Given the description of an element on the screen output the (x, y) to click on. 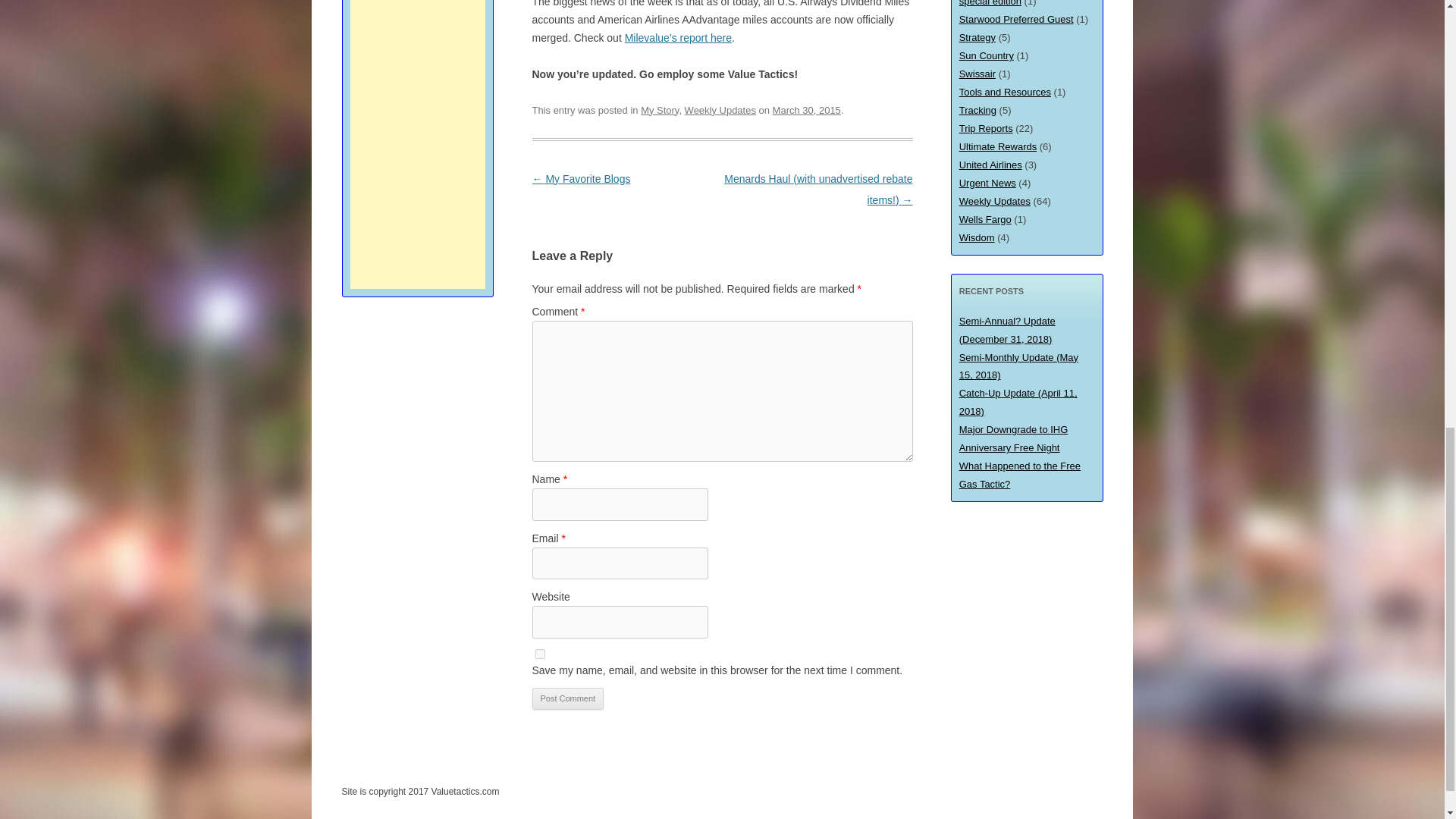
yes (539, 654)
Post Comment (568, 698)
My Story (659, 110)
Post Comment (568, 698)
Weekly Updates (719, 110)
22:52 (807, 110)
March 30, 2015 (807, 110)
